Given the description of an element on the screen output the (x, y) to click on. 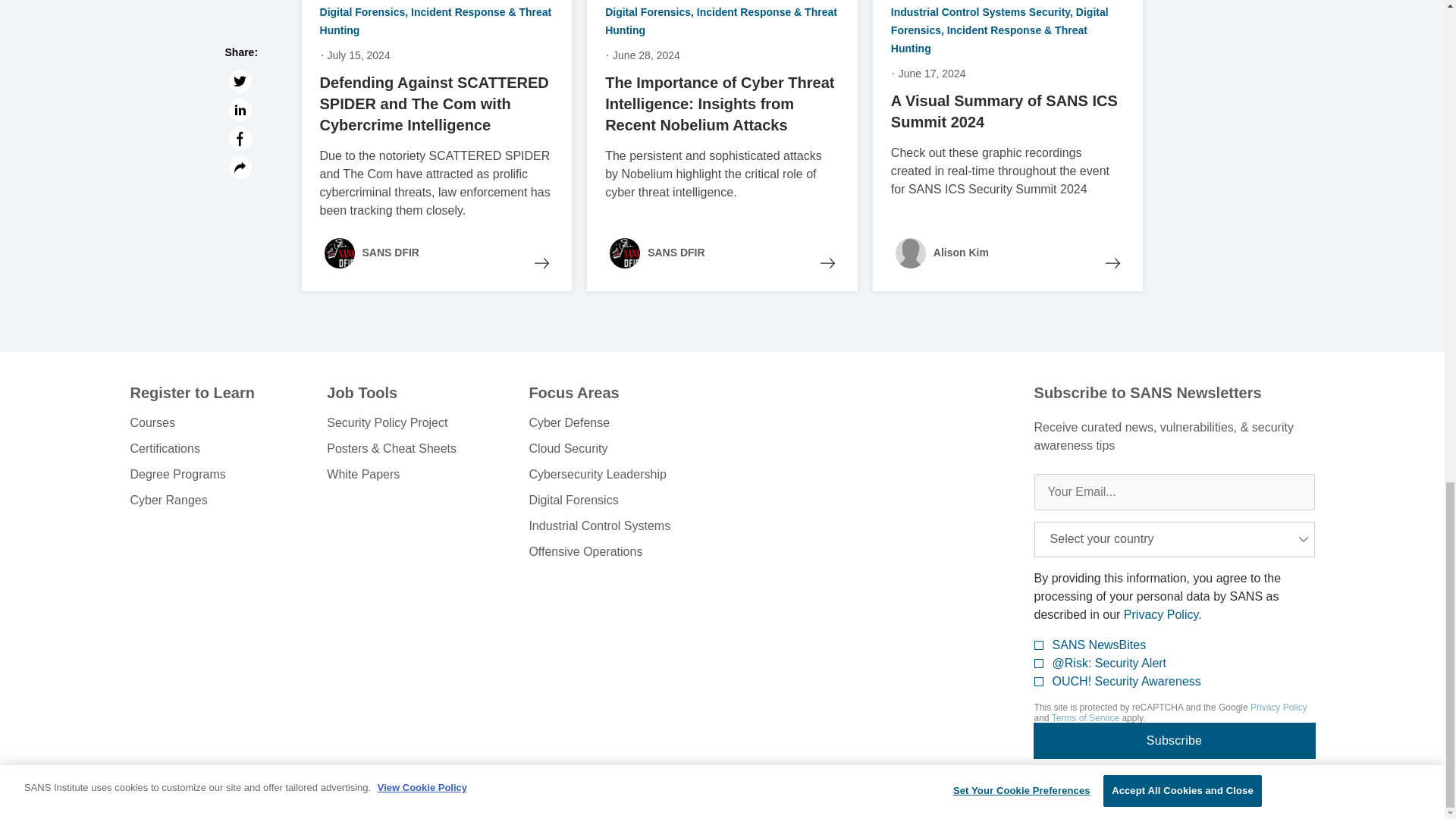
Subscribe (1173, 740)
370x370-person-placeholder.png (910, 253)
